Given the description of an element on the screen output the (x, y) to click on. 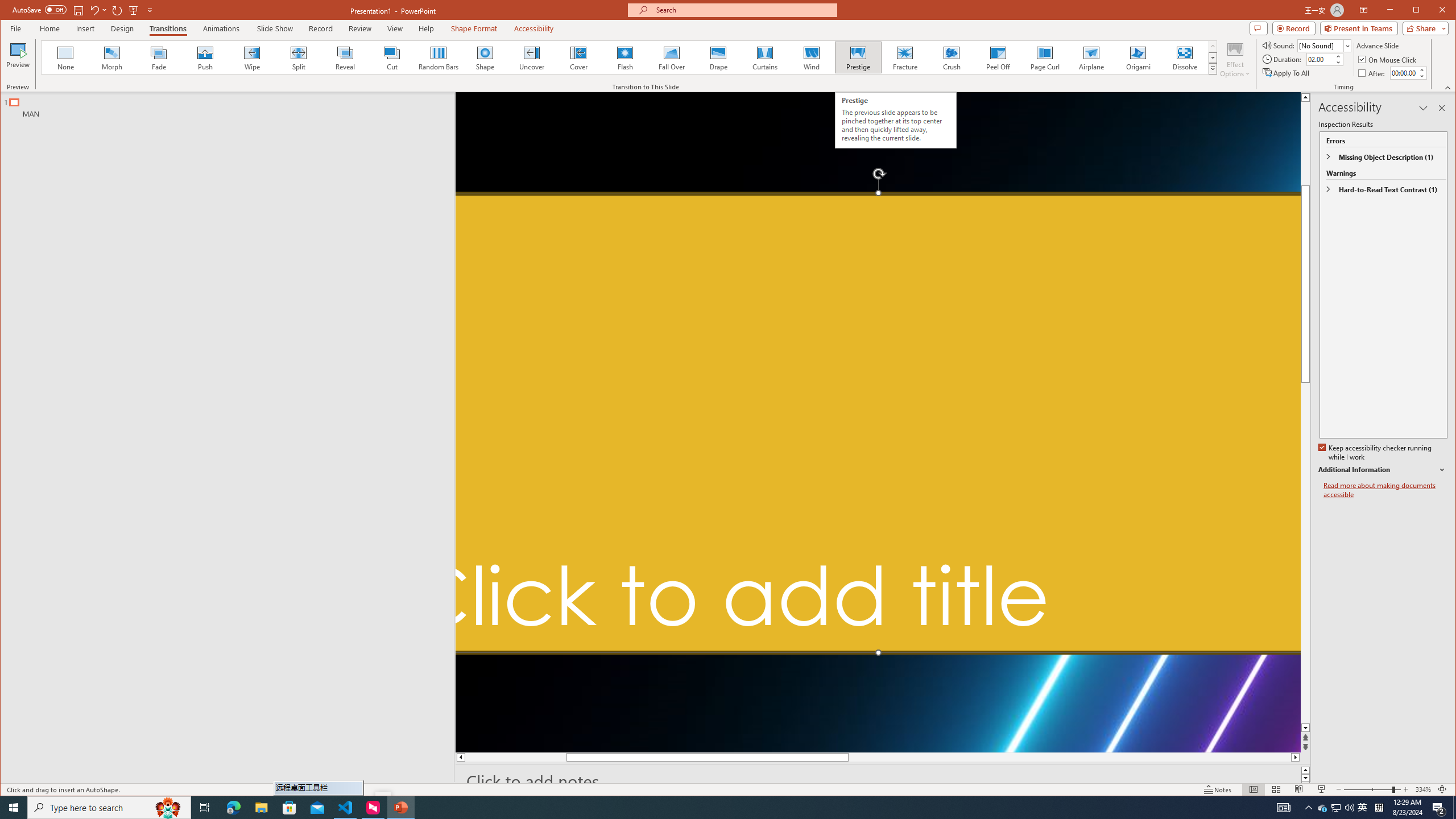
Wind (810, 57)
Morph (111, 57)
